Given the description of an element on the screen output the (x, y) to click on. 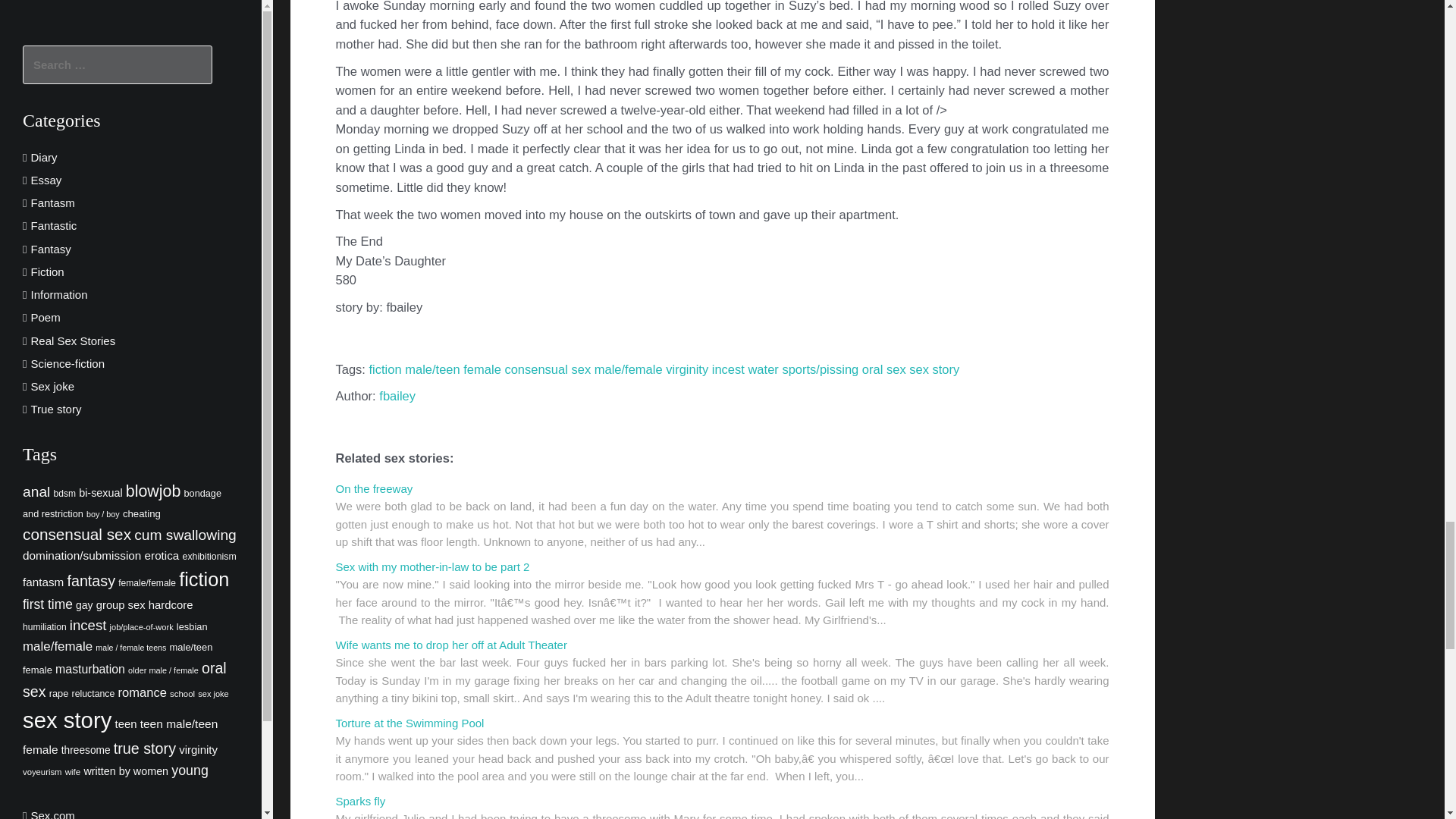
oral sex (883, 368)
sex story (933, 368)
consensual sex (547, 368)
Wife wants me to drop her off at Adult Theater (450, 644)
On the freeway (373, 488)
fiction (385, 368)
Sex with my mother-in-law to be part 2 (431, 566)
Torture at the Swimming Pool (408, 722)
virginity (686, 368)
fbailey (396, 395)
Sparks fly (359, 800)
incest (727, 368)
